Given the description of an element on the screen output the (x, y) to click on. 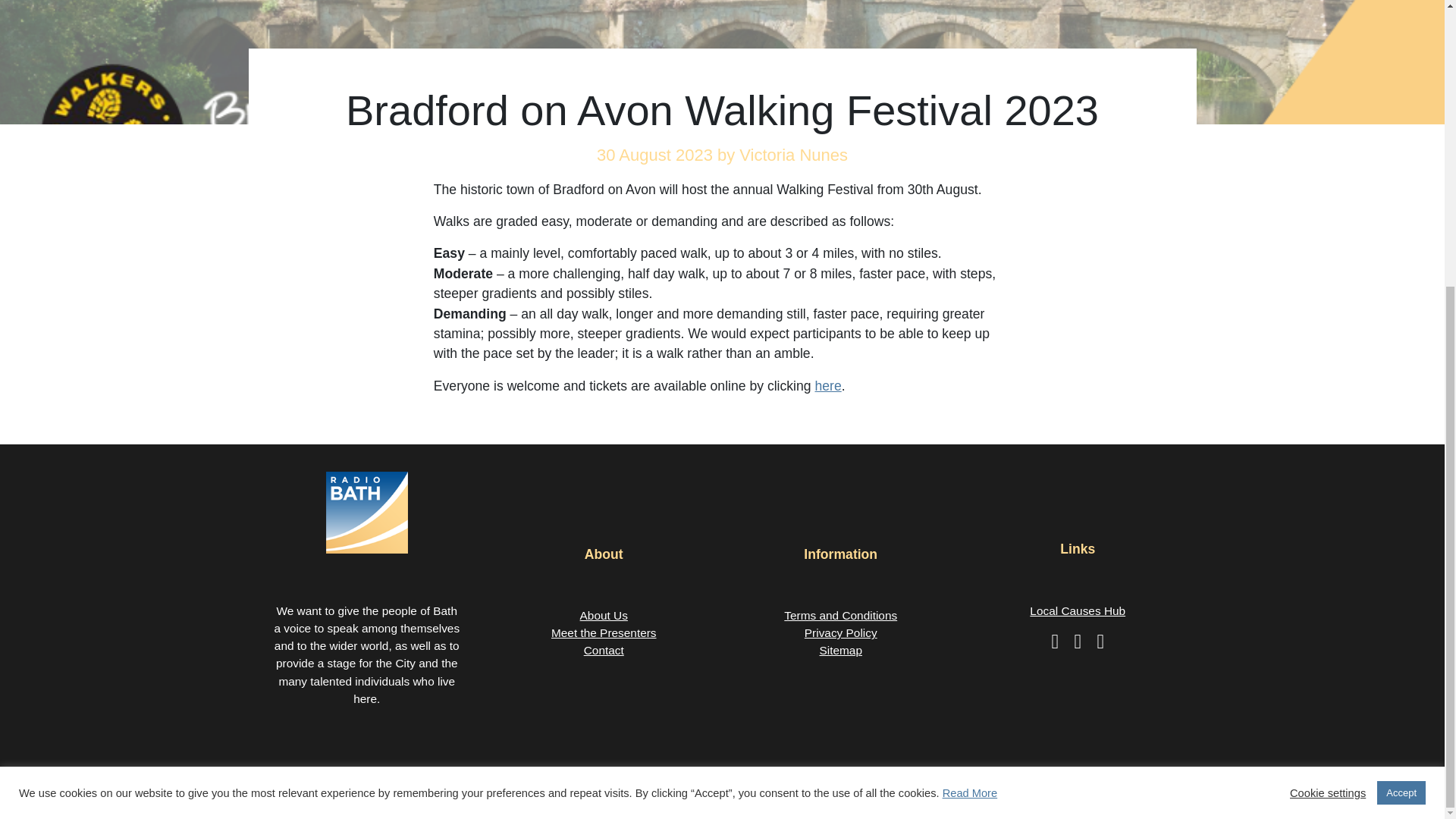
Terms and Conditions (839, 615)
here (827, 385)
Read More (969, 359)
Meet the Presenters (603, 632)
Local Causes Hub (1077, 610)
Contact (603, 650)
About Us (603, 615)
Accept (1401, 360)
Privacy Policy (839, 632)
Cookie settings (1327, 359)
